Given the description of an element on the screen output the (x, y) to click on. 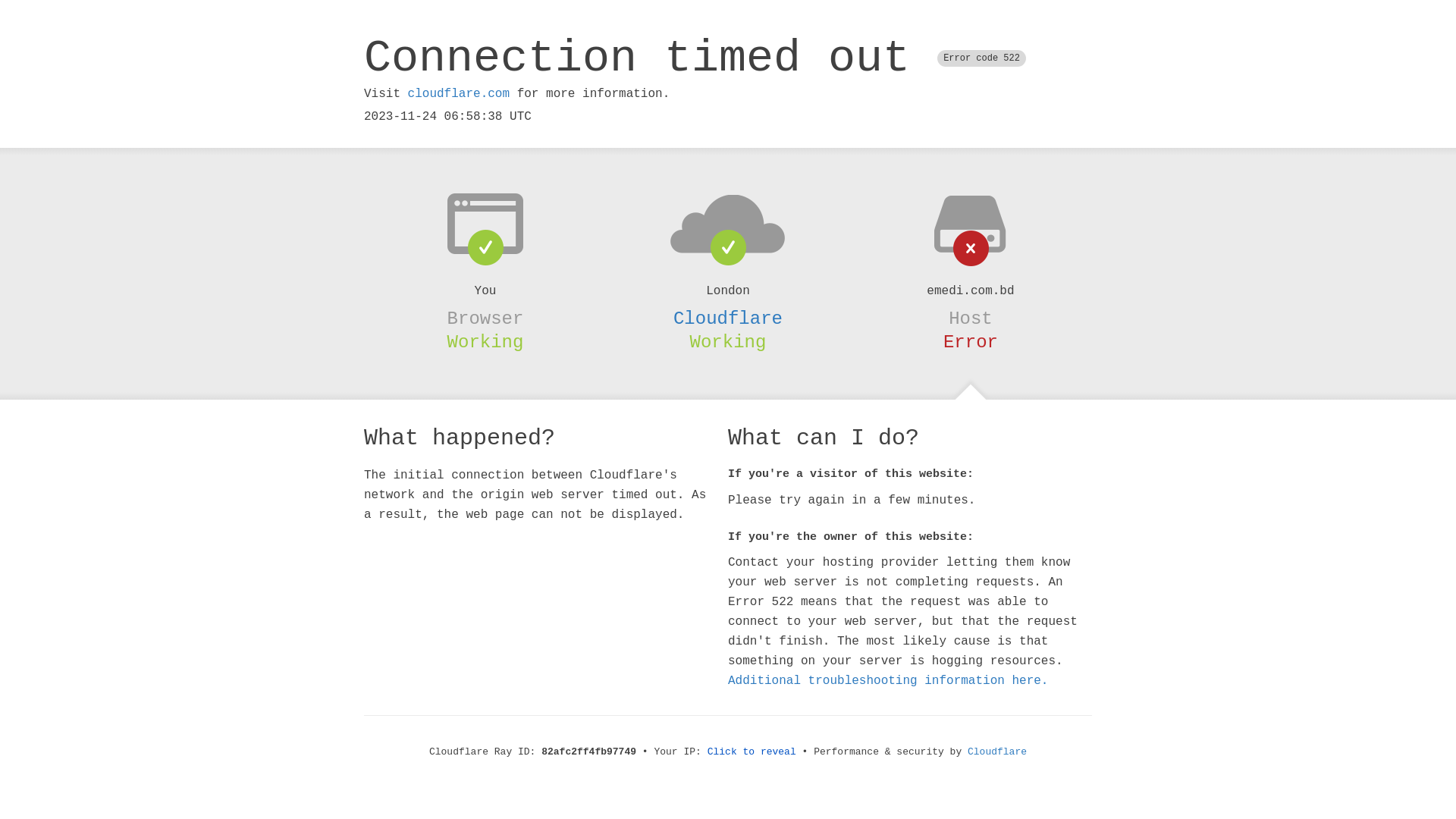
cloudflare.com Element type: text (458, 93)
Cloudflare Element type: text (996, 751)
Click to reveal Element type: text (751, 751)
Additional troubleshooting information here. Element type: text (888, 680)
Cloudflare Element type: text (727, 318)
